Given the description of an element on the screen output the (x, y) to click on. 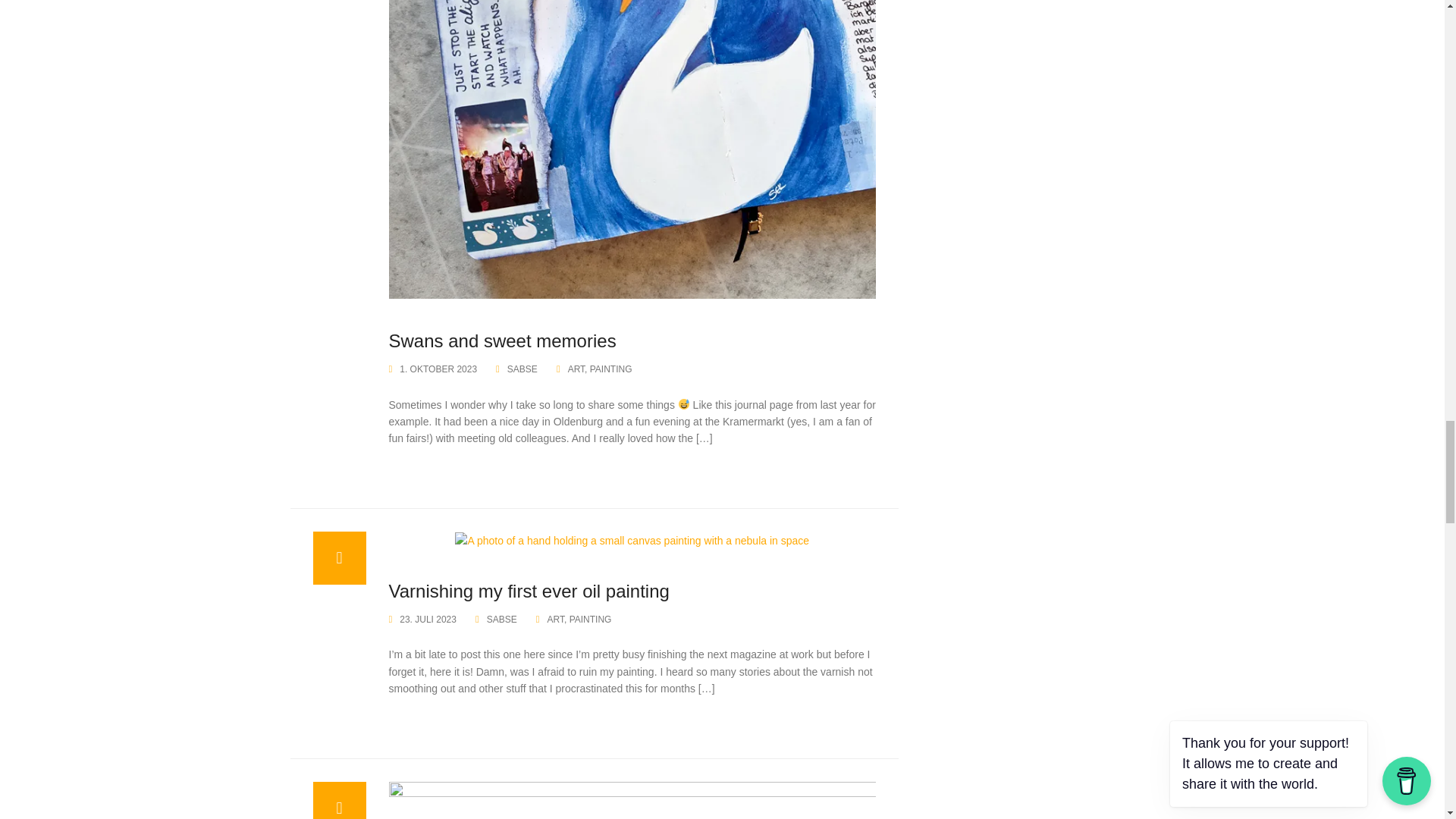
1. OKTOBER 2023 (437, 368)
SABSE (521, 368)
Varnishing my first ever oil painting (631, 539)
ART (576, 368)
Swans and sweet memories (501, 340)
PAINTING (610, 368)
Swans and sweet memories (632, 54)
